Given the description of an element on the screen output the (x, y) to click on. 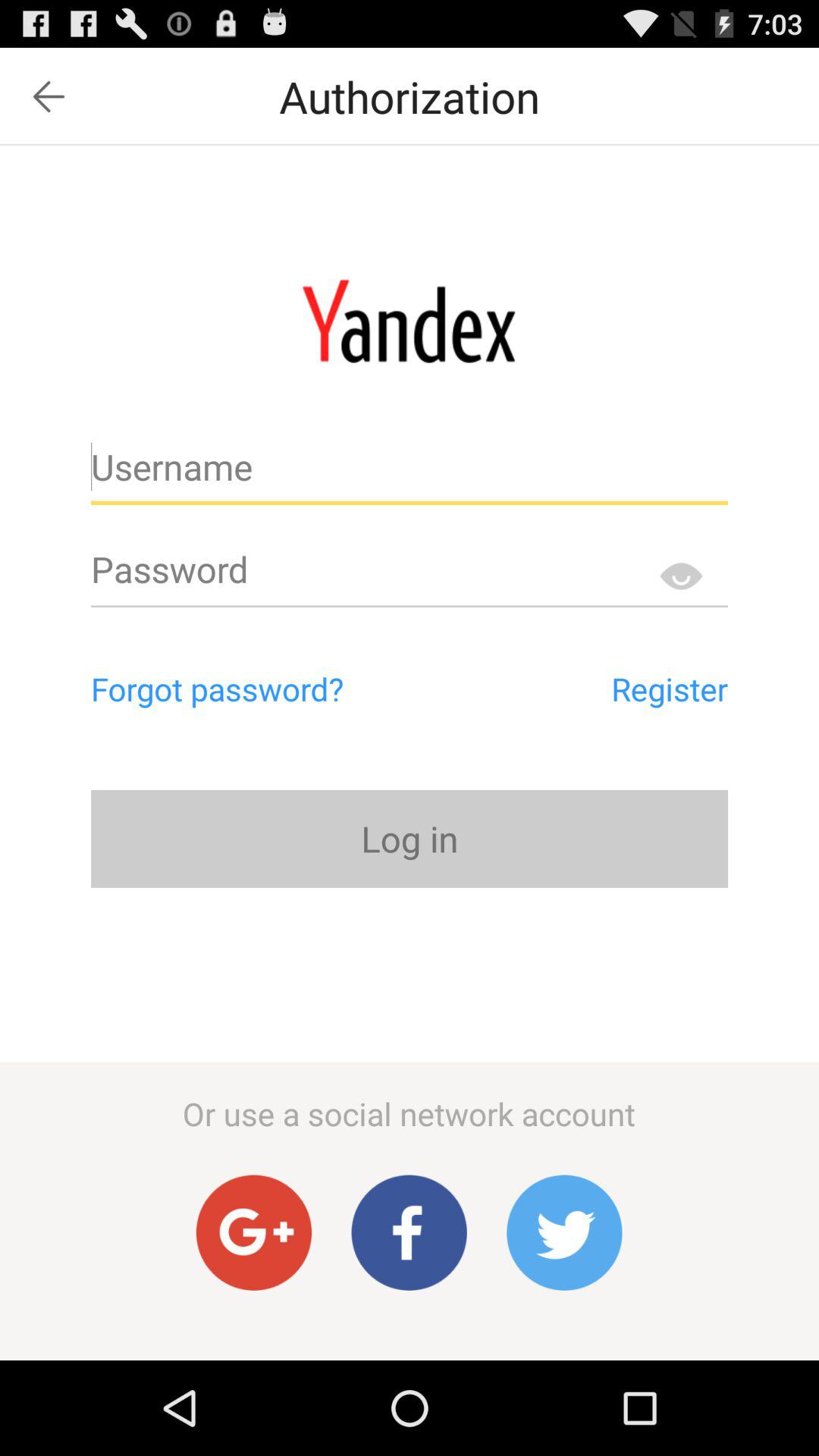
launch app above or use a item (409, 838)
